Given the description of an element on the screen output the (x, y) to click on. 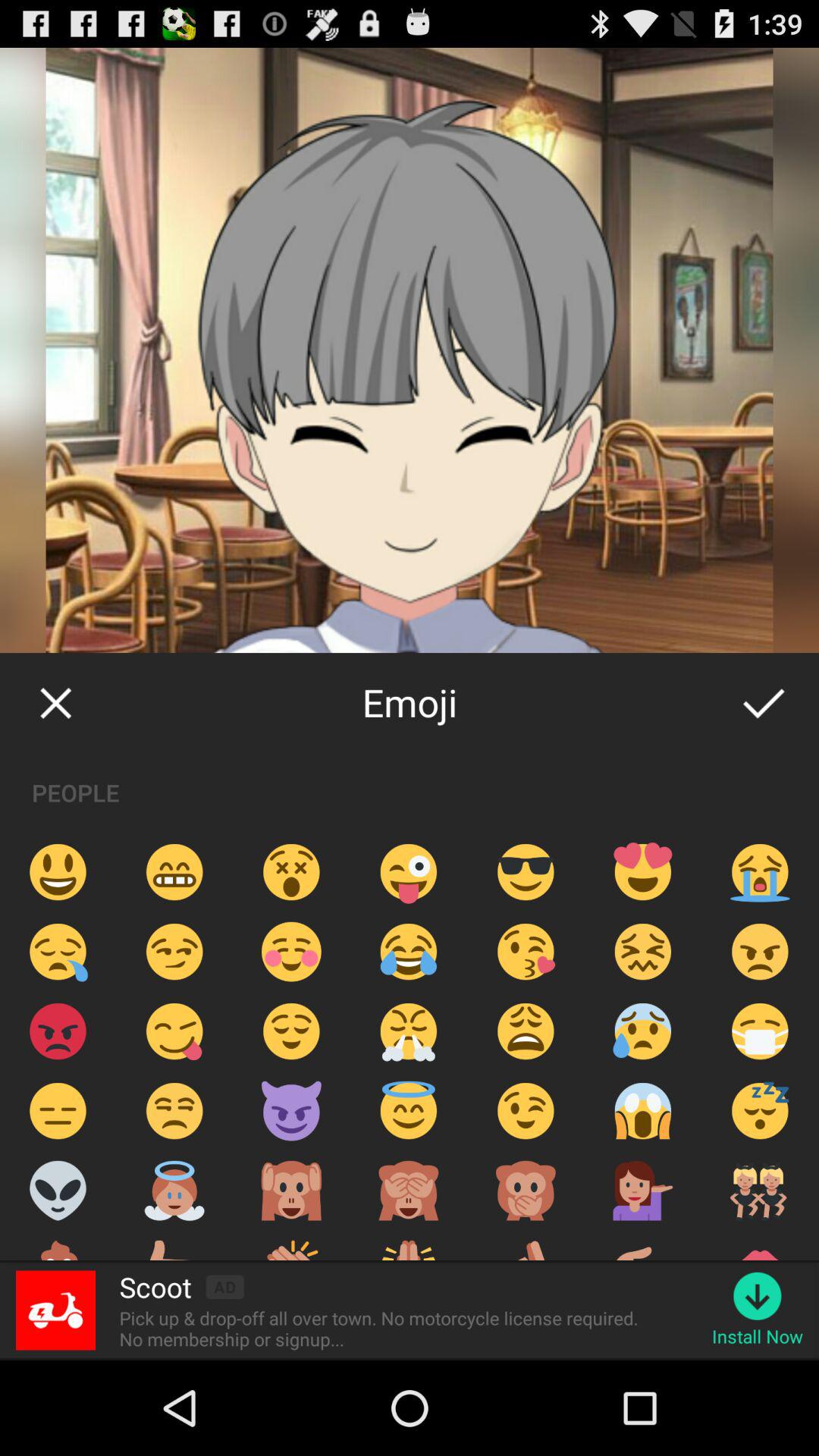
open icon next to scoot icon (224, 1287)
